Given the description of an element on the screen output the (x, y) to click on. 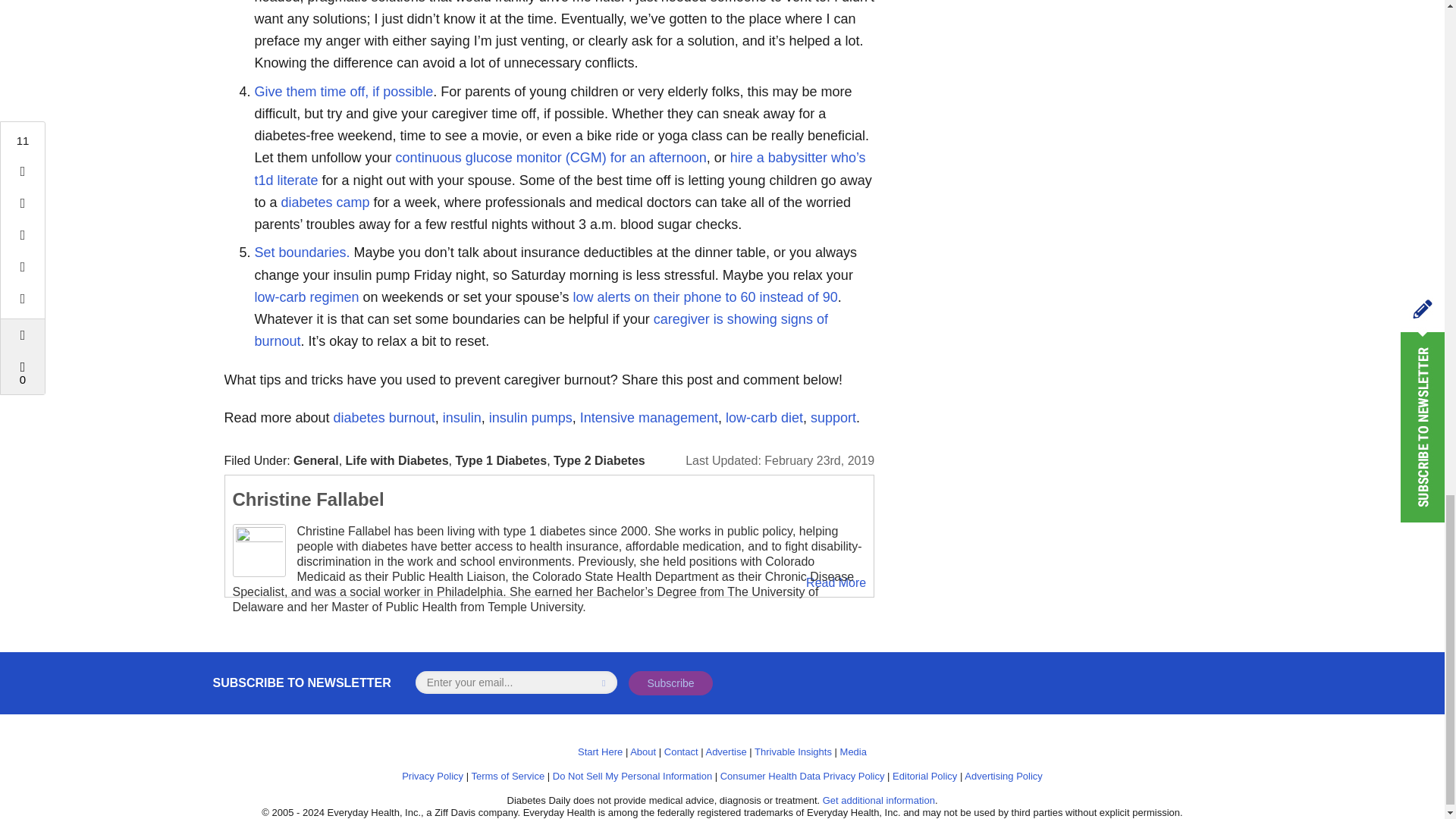
All posts by Christine Fallabel (307, 498)
